Given the description of an element on the screen output the (x, y) to click on. 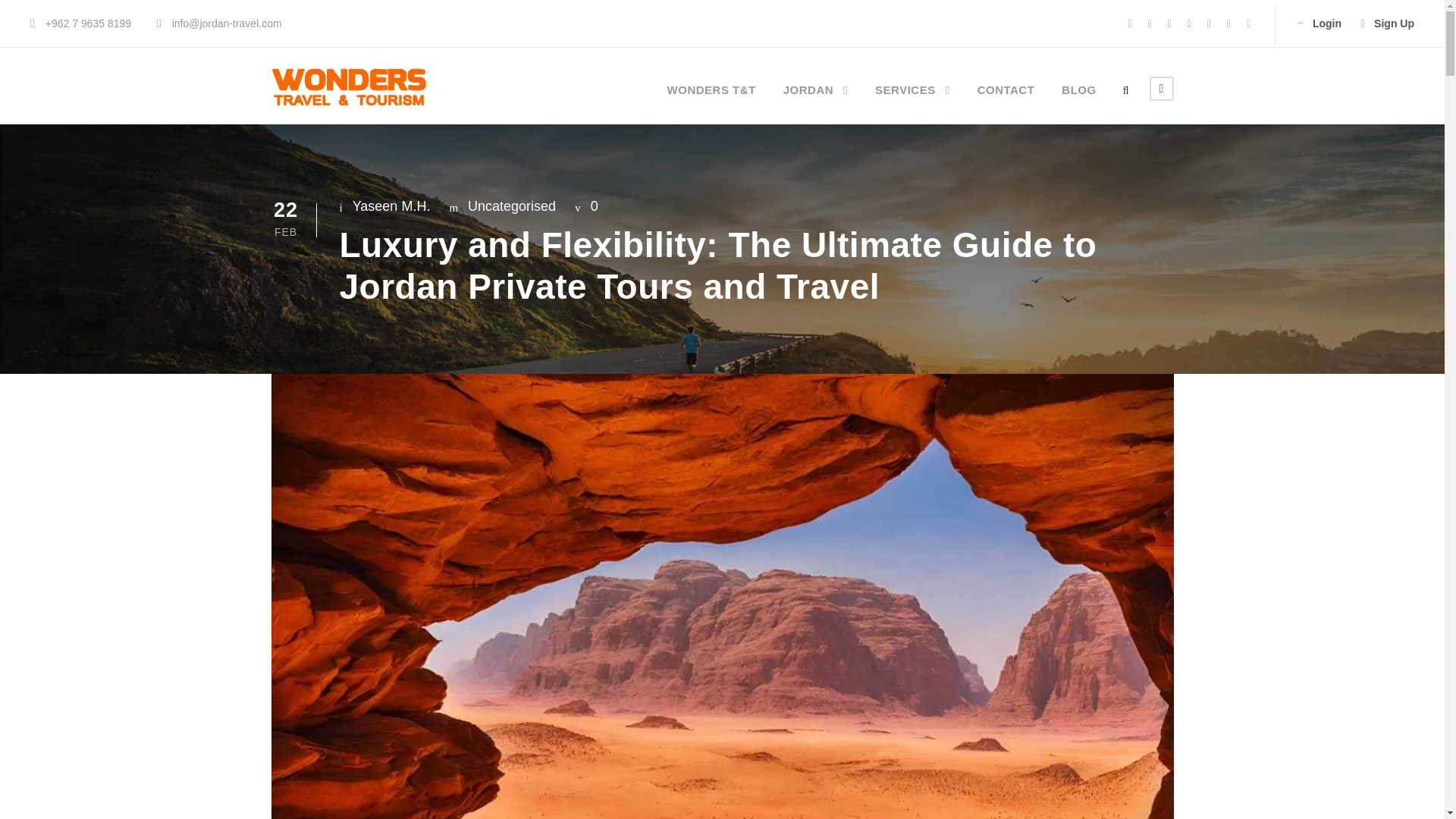
WONDERS TAVEL AND TOURISM LOGO (348, 88)
Posts by Yaseen M.H. (391, 206)
